Given the description of an element on the screen output the (x, y) to click on. 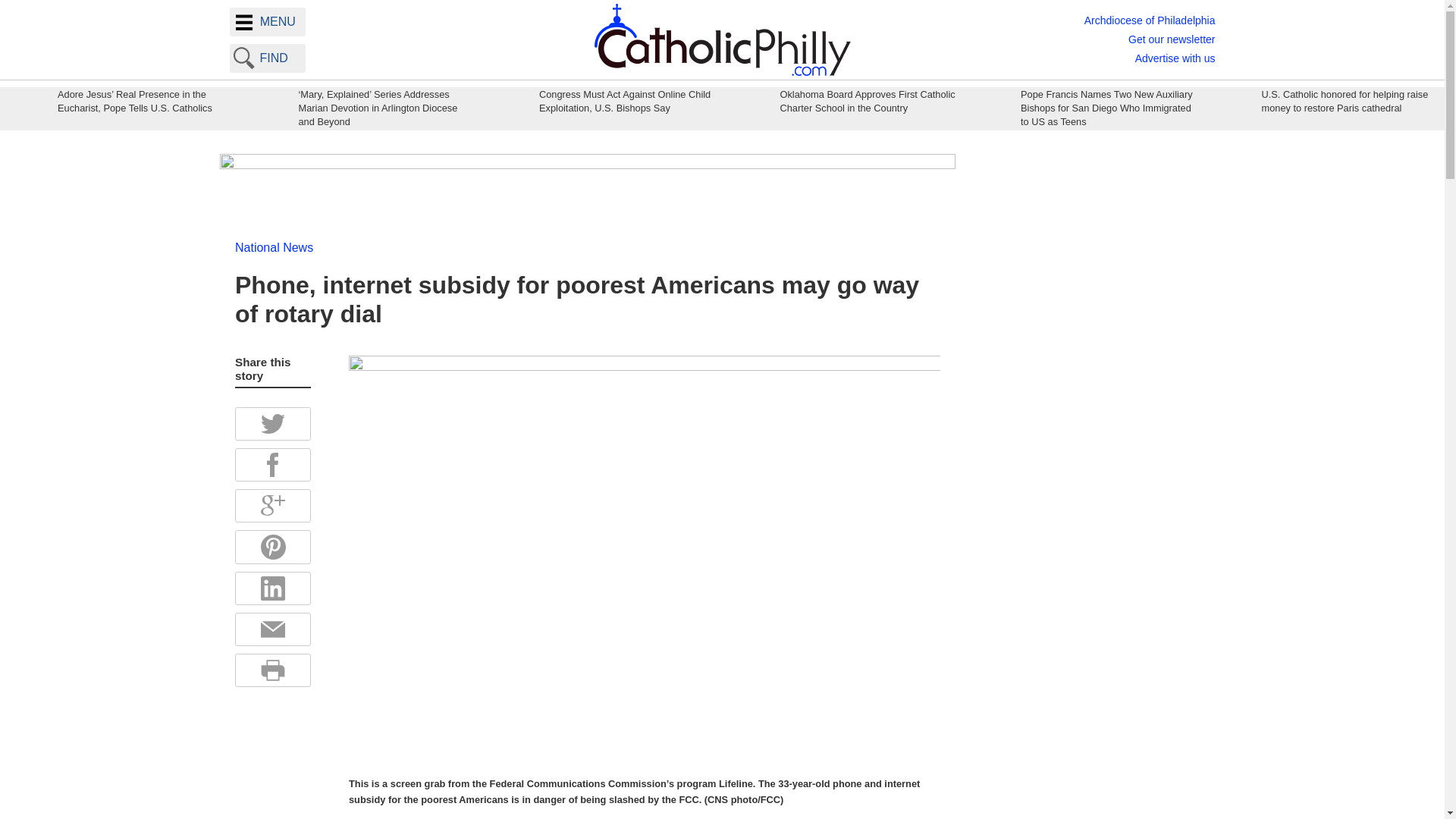
MENU (266, 21)
Share on Pinterest (272, 546)
Print this story (272, 670)
Advertise with us (1175, 58)
Open navigation (266, 21)
Archdiocese of Philadelphia (1149, 20)
Share via Email (272, 629)
Click for home page (722, 40)
Get our newsletter (1171, 39)
